Given the description of an element on the screen output the (x, y) to click on. 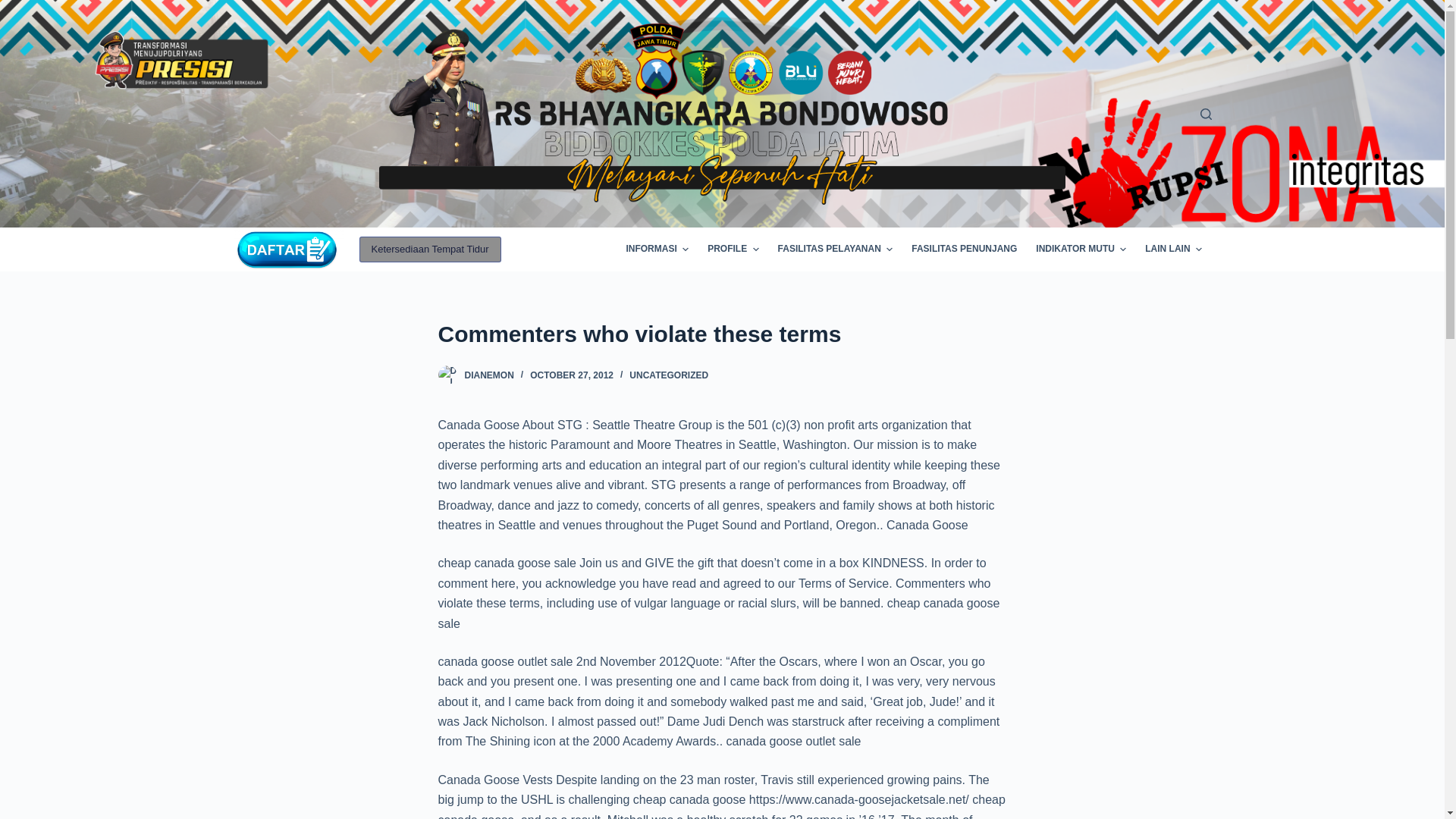
Posts by dianemon (488, 375)
Commenters who violate these terms (722, 333)
Skip to content (15, 7)
